Given the description of an element on the screen output the (x, y) to click on. 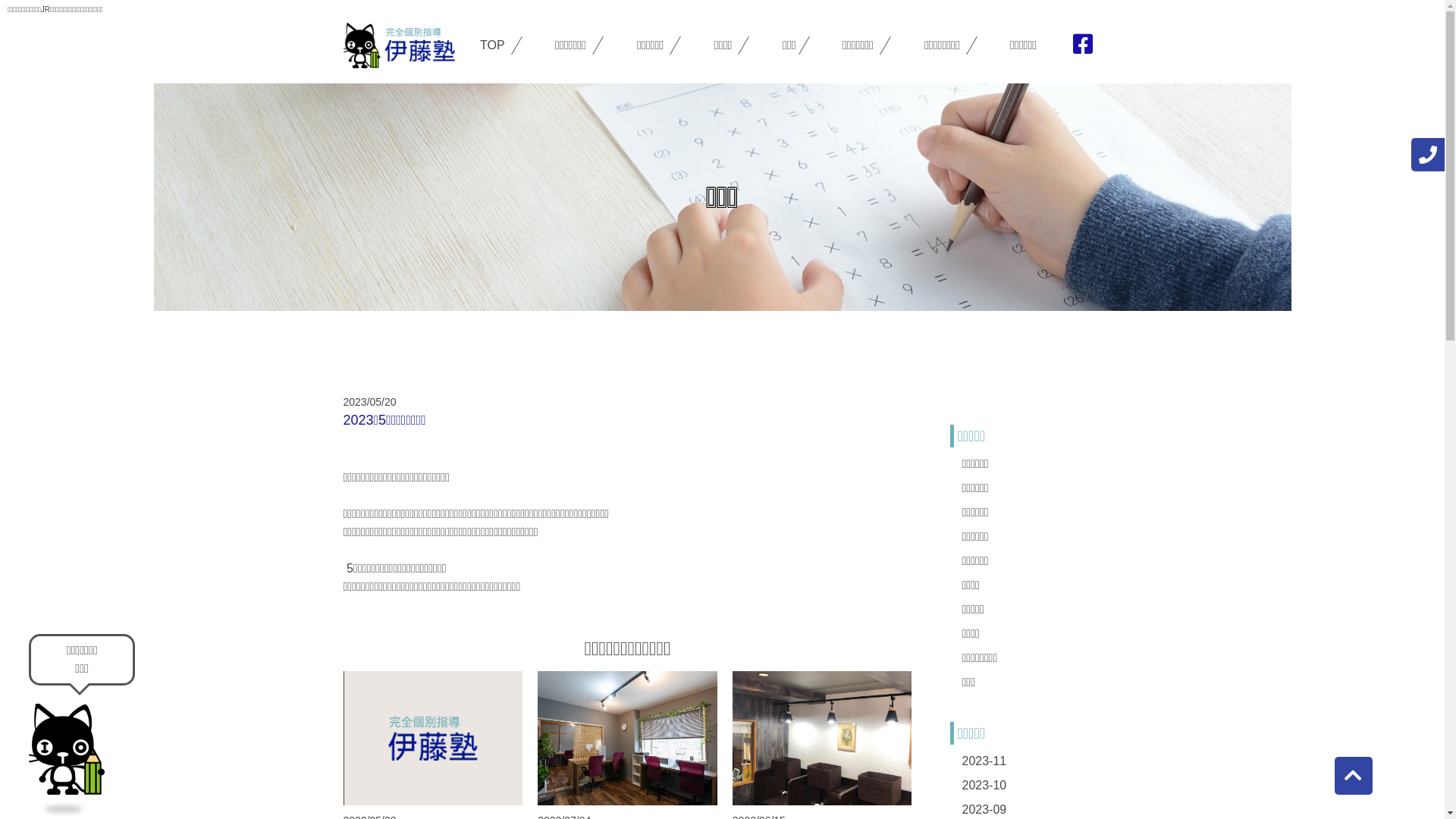
2023-11 Element type: text (983, 760)
2023-09 Element type: text (983, 809)
2023-10 Element type: text (983, 784)
TOP Element type: text (494, 45)
